Given the description of an element on the screen output the (x, y) to click on. 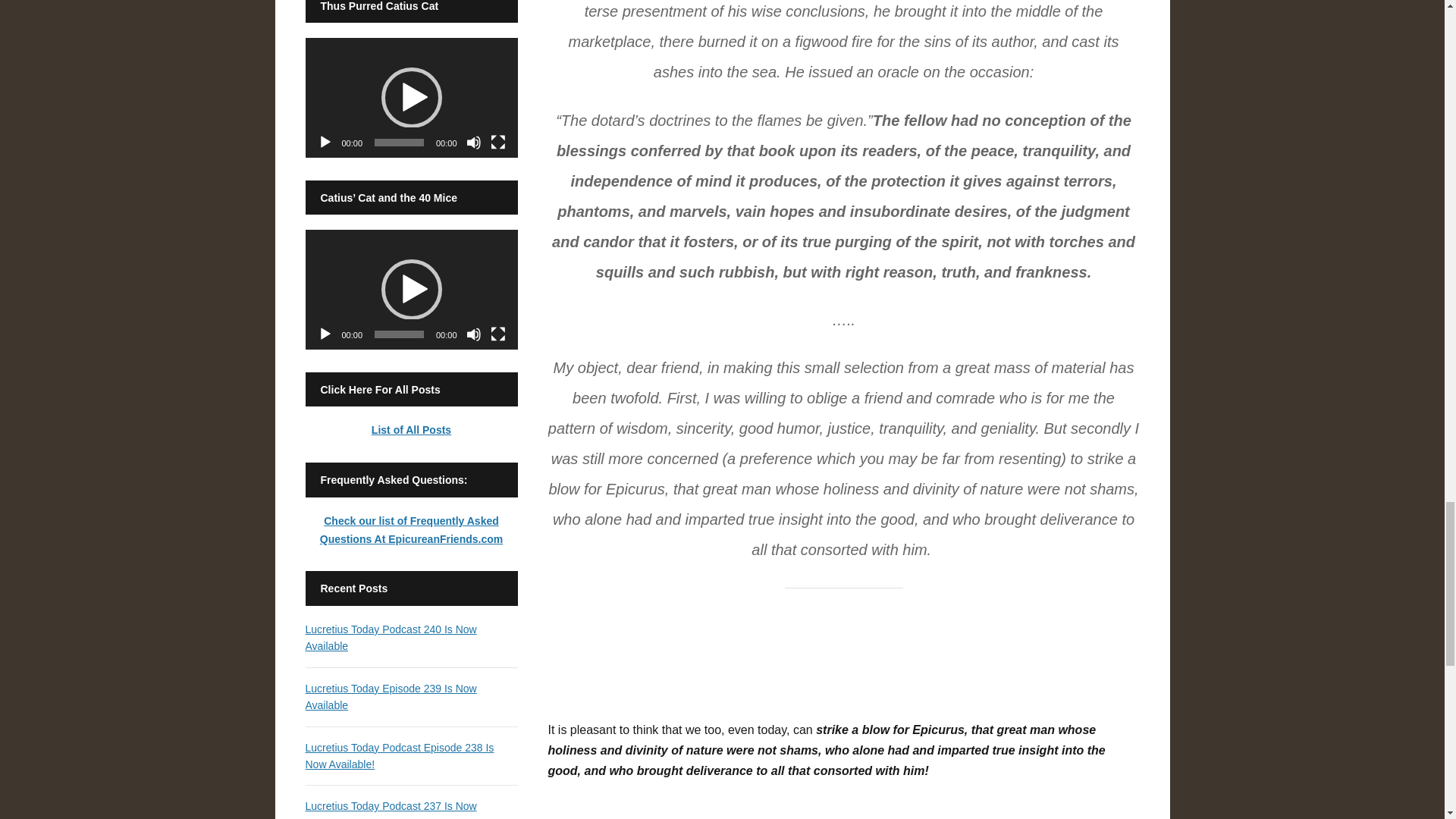
Mute (472, 142)
Play (324, 334)
Play (324, 142)
Fullscreen (497, 334)
Fullscreen (497, 142)
Mute (472, 334)
